Given the description of an element on the screen output the (x, y) to click on. 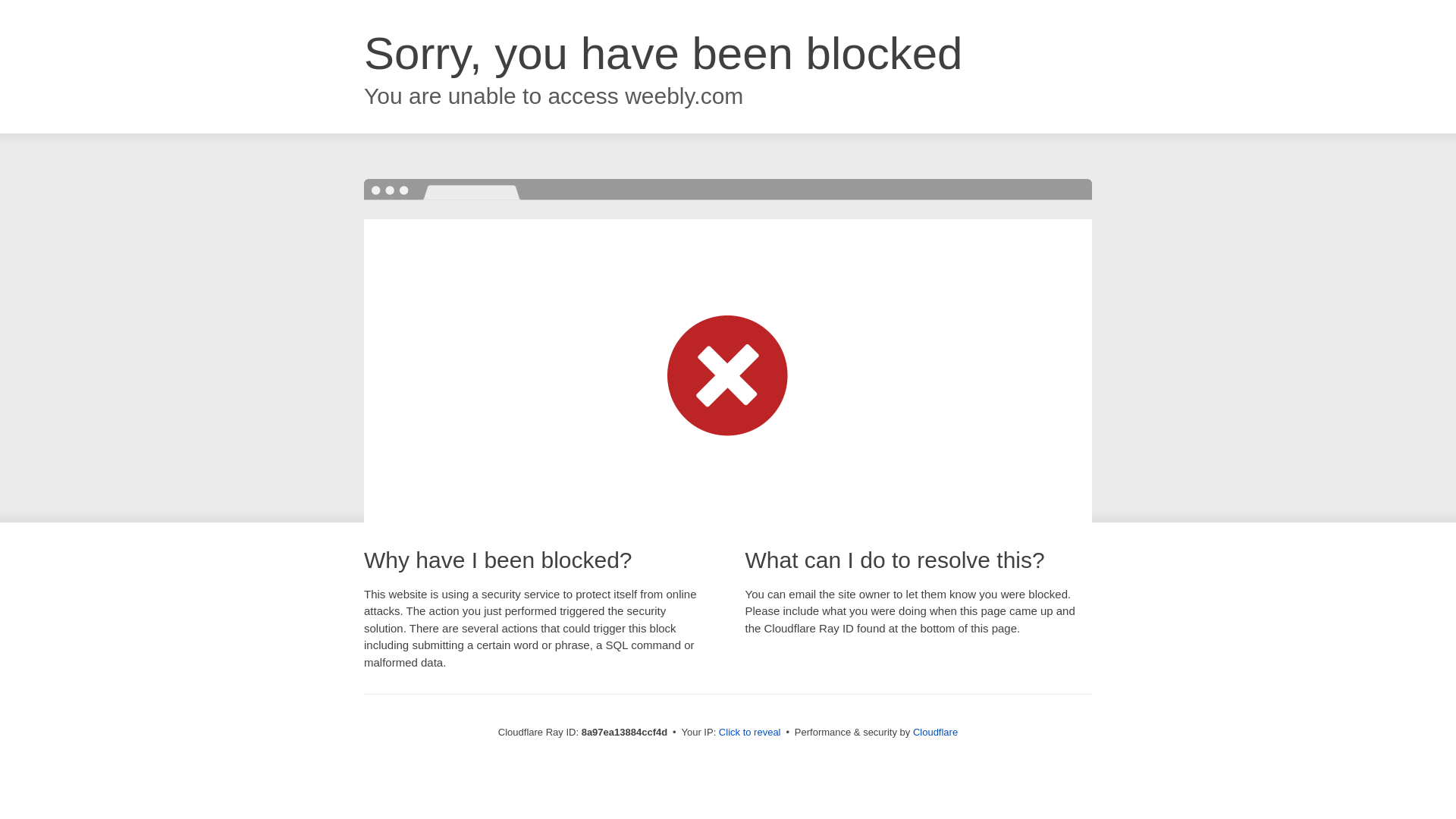
Click to reveal (749, 732)
Cloudflare (935, 731)
